Given the description of an element on the screen output the (x, y) to click on. 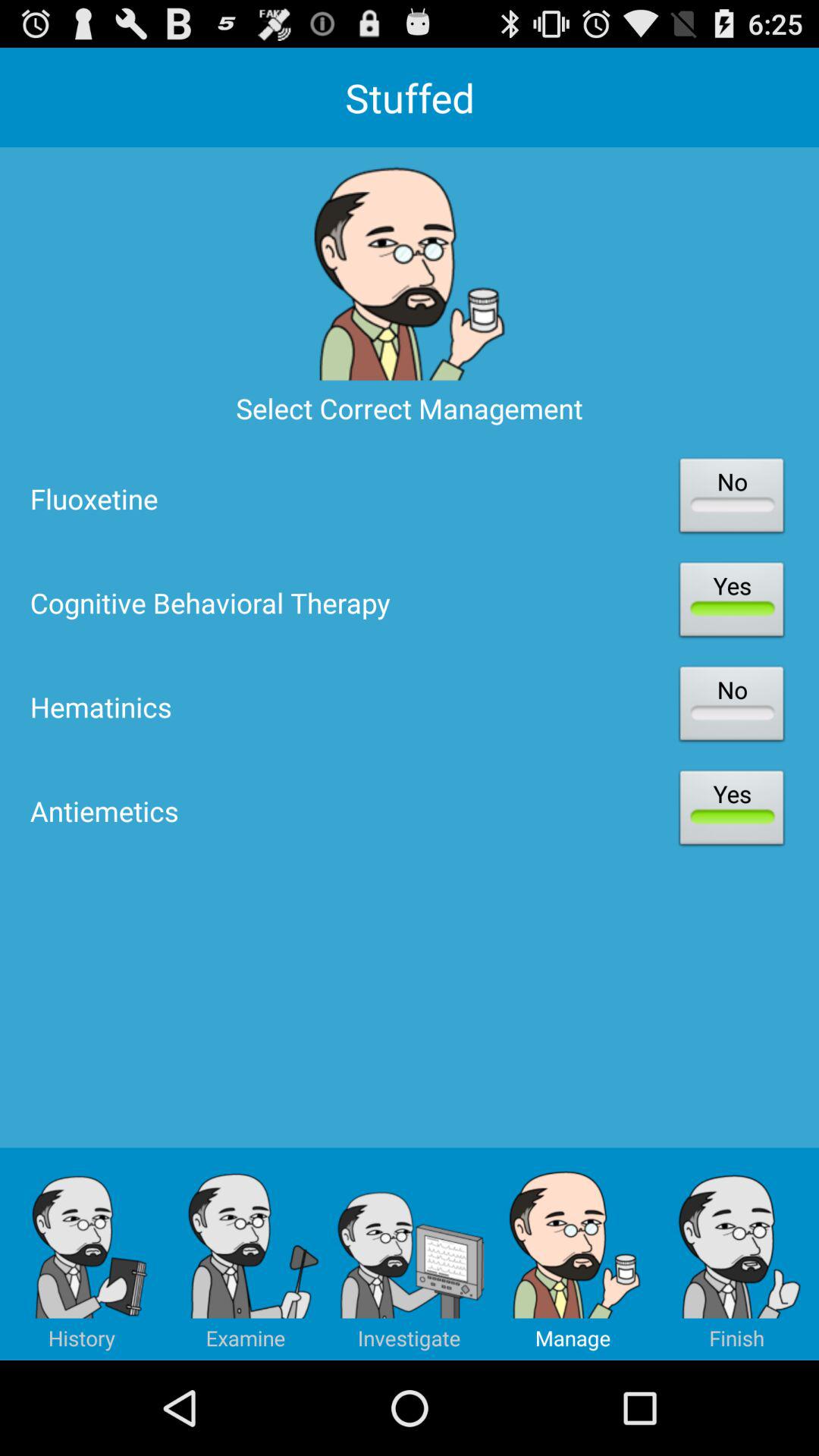
turn on the icon below antiemetics (81, 1253)
